Given the description of an element on the screen output the (x, y) to click on. 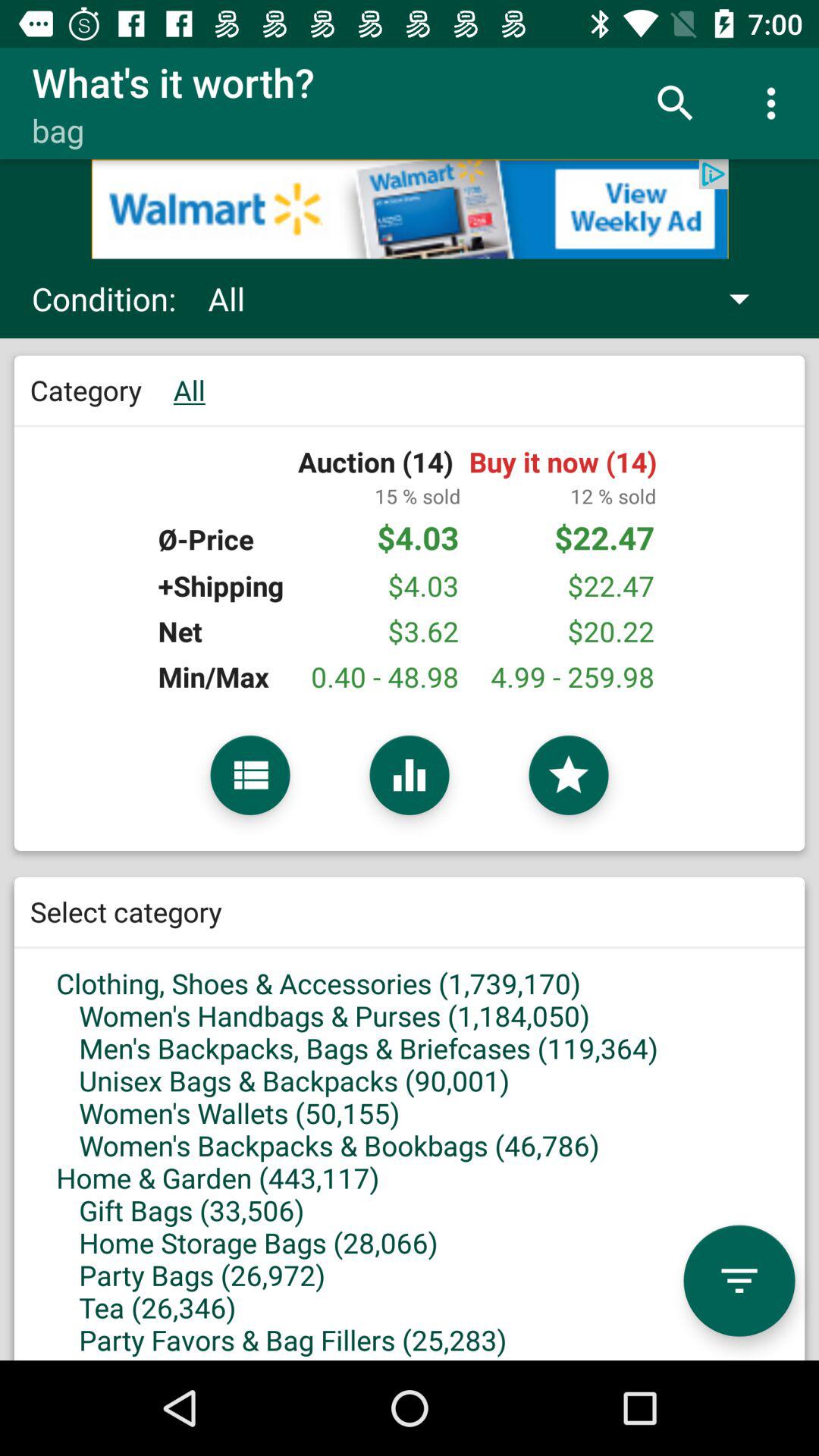
click on the category all box (409, 603)
click on the icon before star icon (409, 775)
select the text present under select category (409, 1113)
select the third icon with star (568, 775)
green color text all next to text category (189, 390)
click on green color button at bottm right (739, 1280)
